Given the description of an element on the screen output the (x, y) to click on. 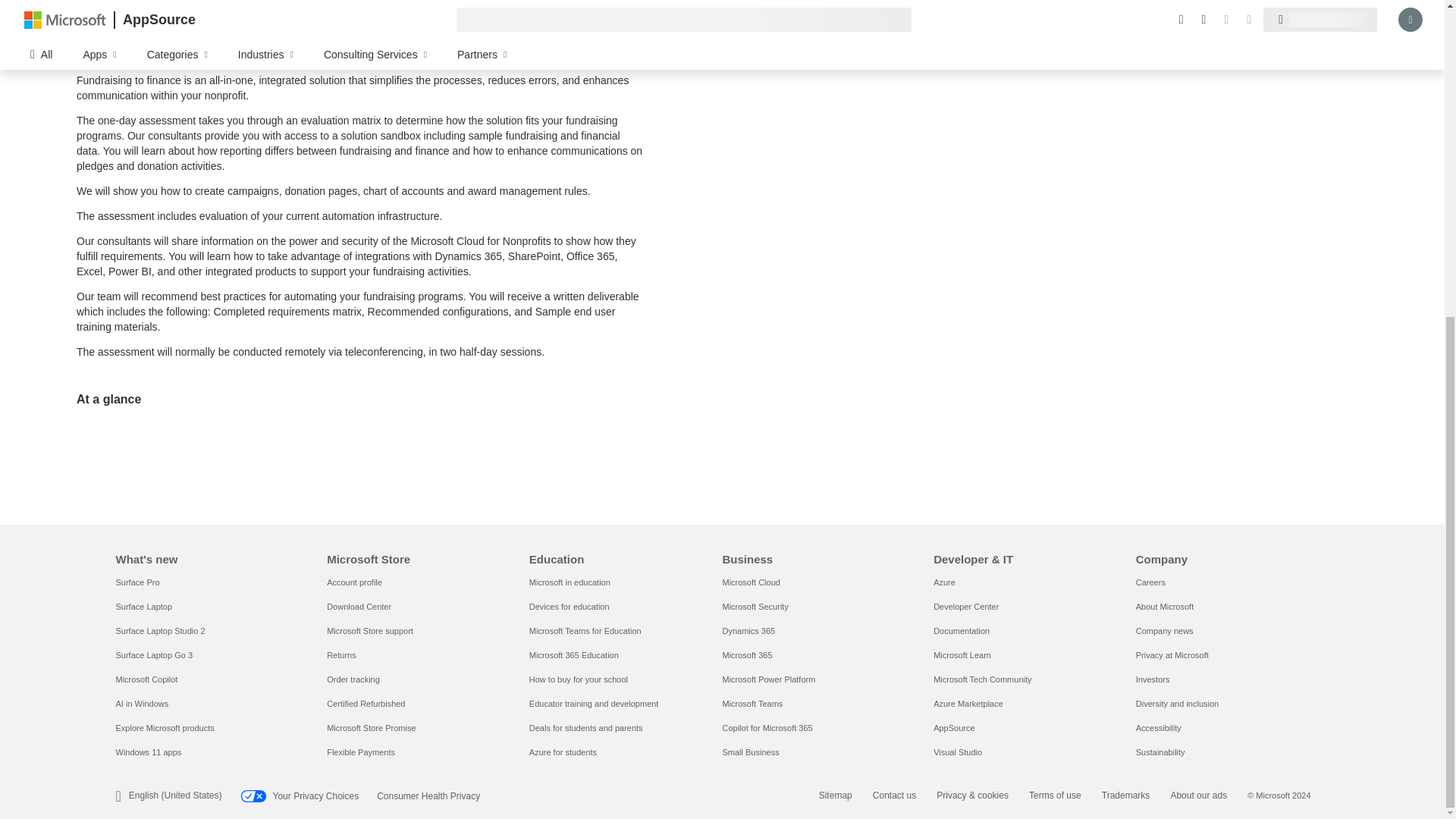
AI in Windows (141, 703)
Microsoft Teams for Education (585, 630)
Surface Laptop Studio 2 (160, 630)
Surface Laptop Go 3 (153, 655)
Microsoft Store Promise (370, 727)
Windows 11 apps (147, 751)
Order tracking (353, 678)
Surface Pro (136, 582)
Microsoft in education (569, 582)
Flexible Payments (360, 751)
Microsoft Copilot (146, 678)
How to buy for your school (578, 678)
Microsoft 365 Education (573, 655)
Explore Microsoft products (164, 727)
Returns (341, 655)
